Given the description of an element on the screen output the (x, y) to click on. 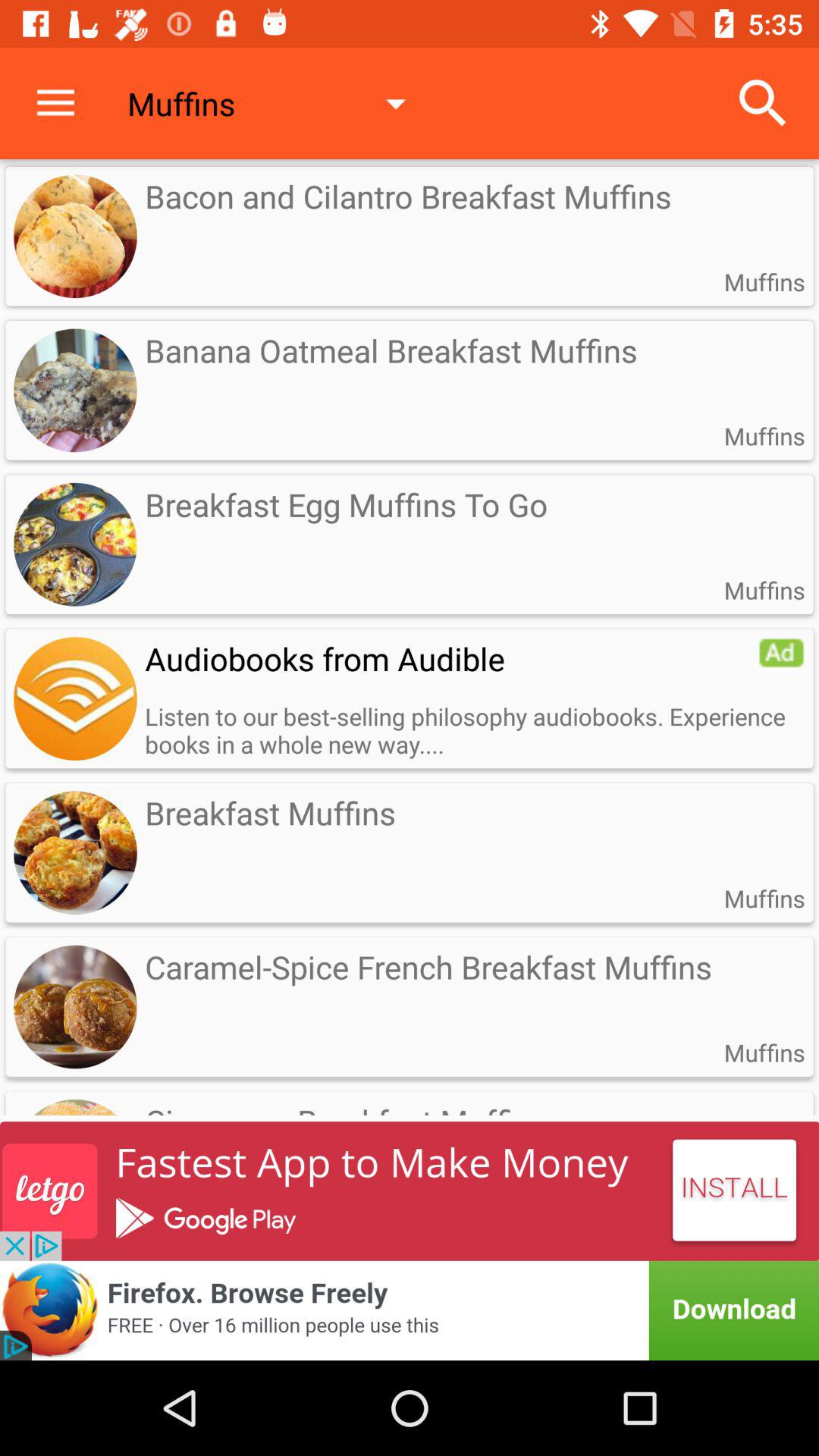
banner advertisement (409, 1190)
